Given the description of an element on the screen output the (x, y) to click on. 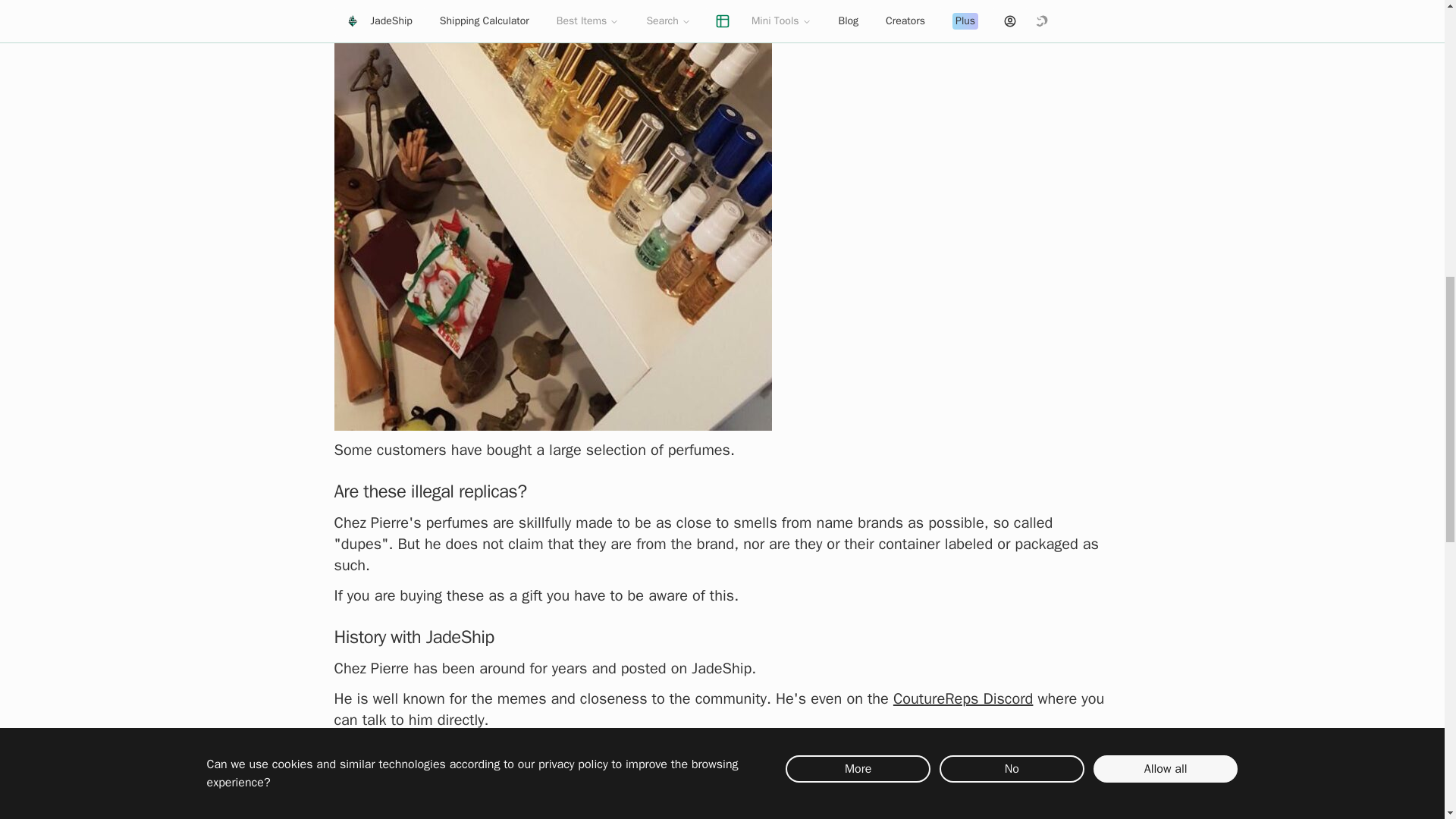
CoutureReps Discord (963, 698)
